Given the description of an element on the screen output the (x, y) to click on. 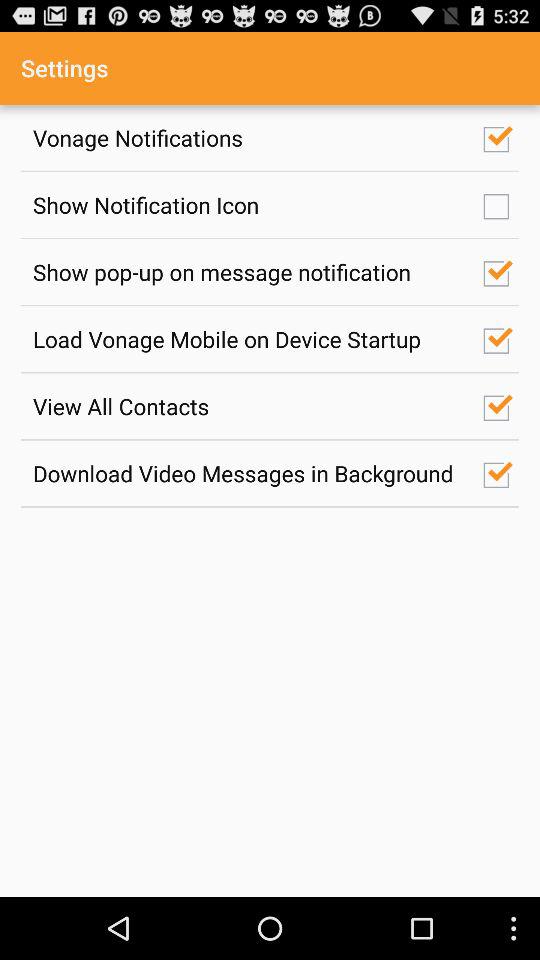
choose download video messages icon (247, 473)
